Given the description of an element on the screen output the (x, y) to click on. 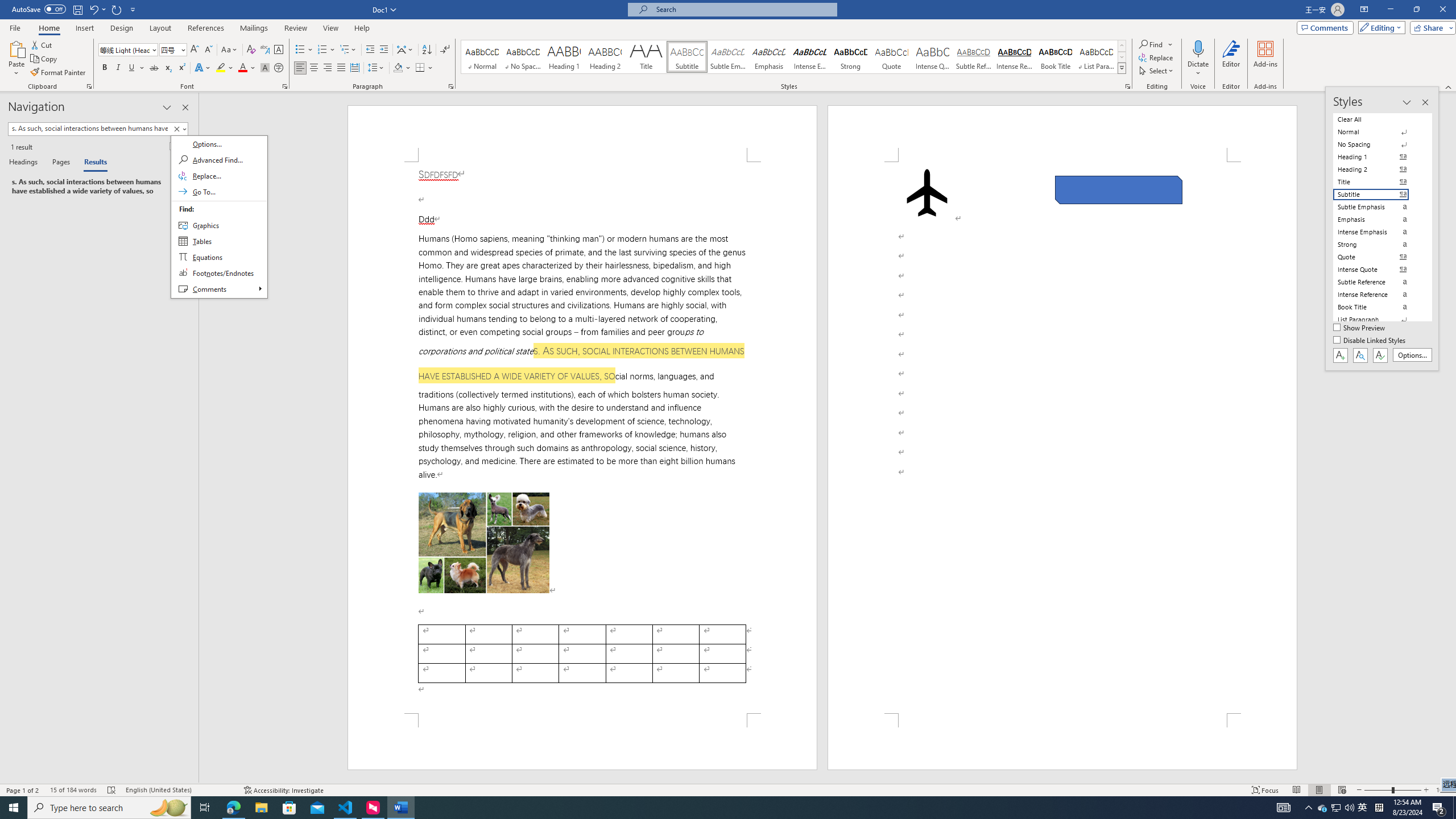
Select (1157, 69)
Editing (1379, 27)
Show Preview (1360, 328)
Cut (42, 44)
Word Count 15 of 184 words (73, 790)
Book Title (1055, 56)
Page 2 content (1062, 437)
Multilevel List (347, 49)
Shrink Font (208, 49)
